Given the description of an element on the screen output the (x, y) to click on. 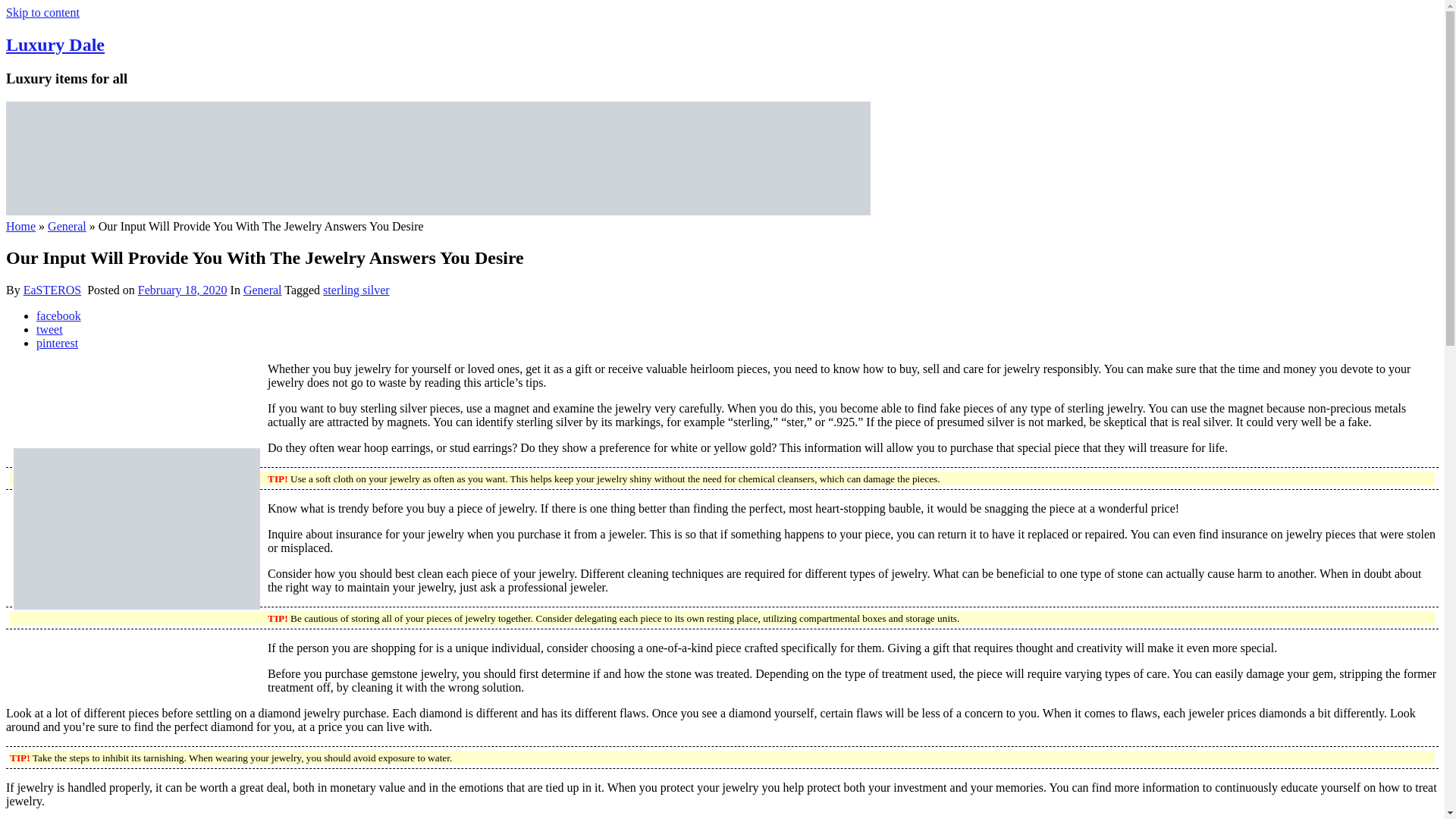
facebook (58, 315)
General (262, 289)
Home (19, 226)
EaSTEROS (52, 289)
Skip to content (42, 11)
February 18, 2020 (182, 289)
General (66, 226)
pinterest (57, 342)
Luxury items for all (437, 210)
Luxury Dale (54, 44)
tweet (49, 328)
Luxury items for all (54, 44)
sterling silver (356, 289)
